Given the description of an element on the screen output the (x, y) to click on. 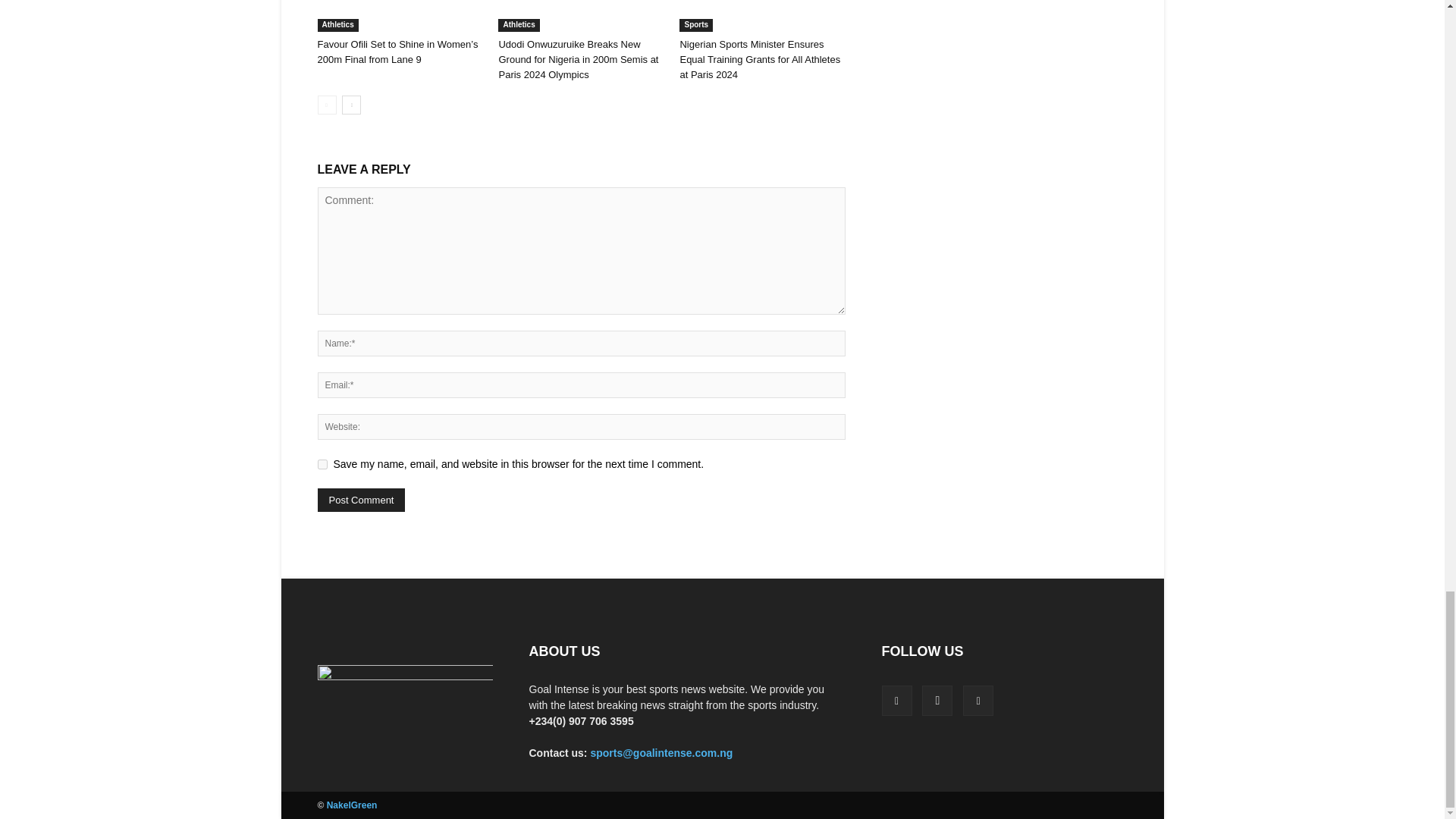
Post Comment (360, 499)
yes (321, 464)
